Given the description of an element on the screen output the (x, y) to click on. 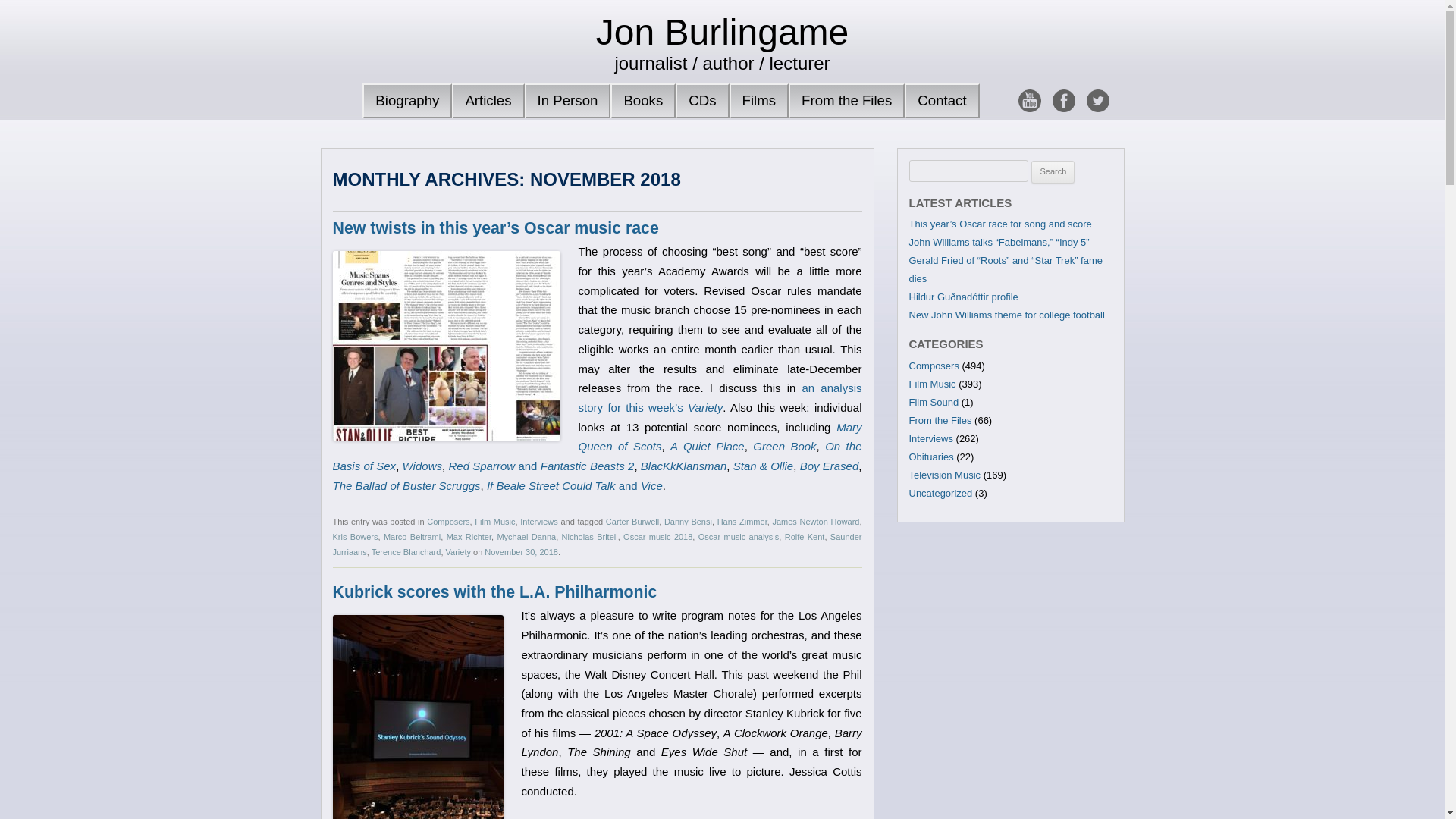
James Newton Howard (815, 521)
Articles (487, 100)
Hans Zimmer (742, 521)
If Beale Street Could Talk and Vice (574, 485)
Danny Bensi (687, 521)
CDs (702, 100)
Contact (941, 100)
BlacKkKlansman (683, 465)
Films (759, 100)
Interviews (538, 521)
